Given the description of an element on the screen output the (x, y) to click on. 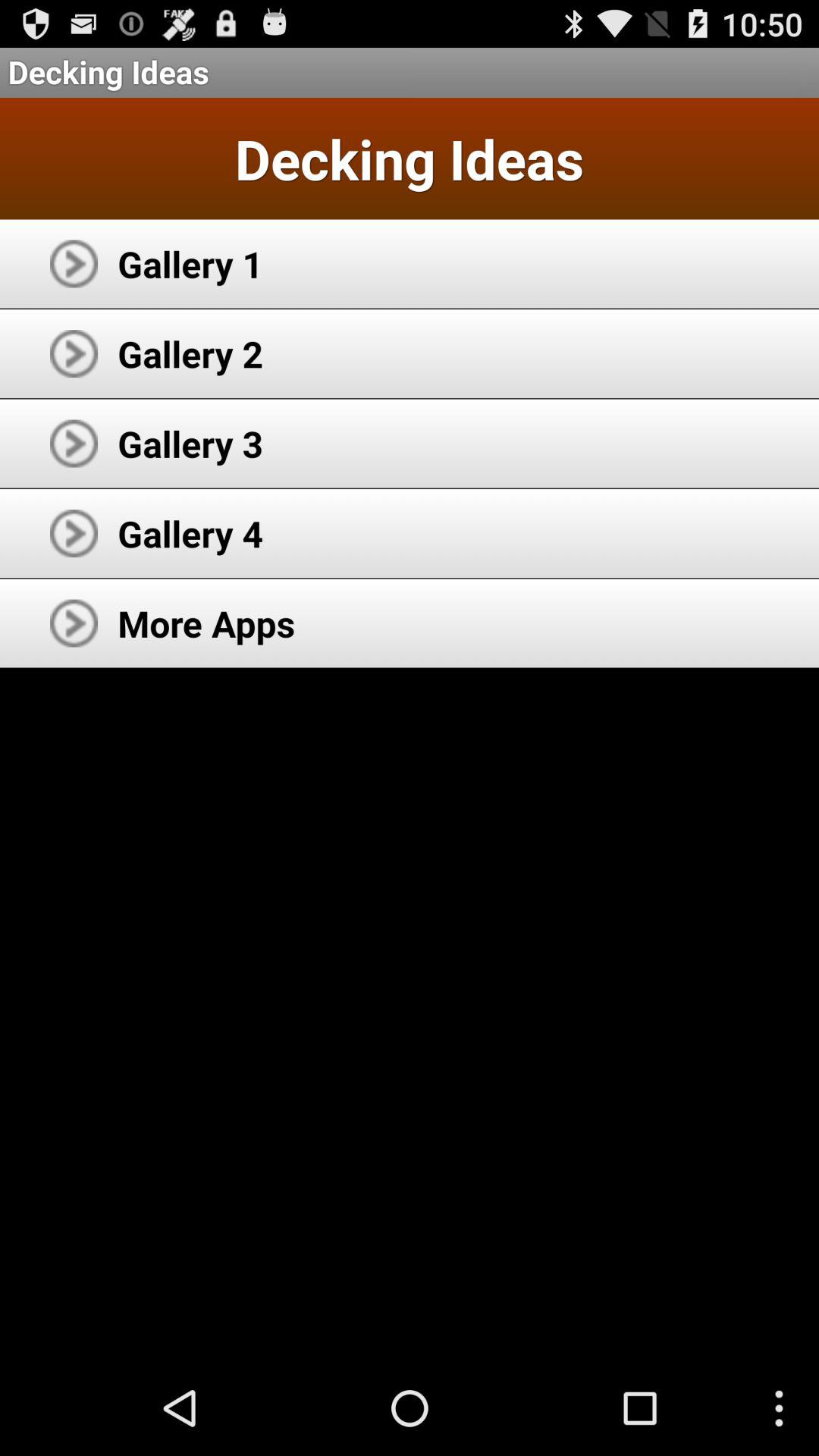
tap gallery 3 item (190, 443)
